Given the description of an element on the screen output the (x, y) to click on. 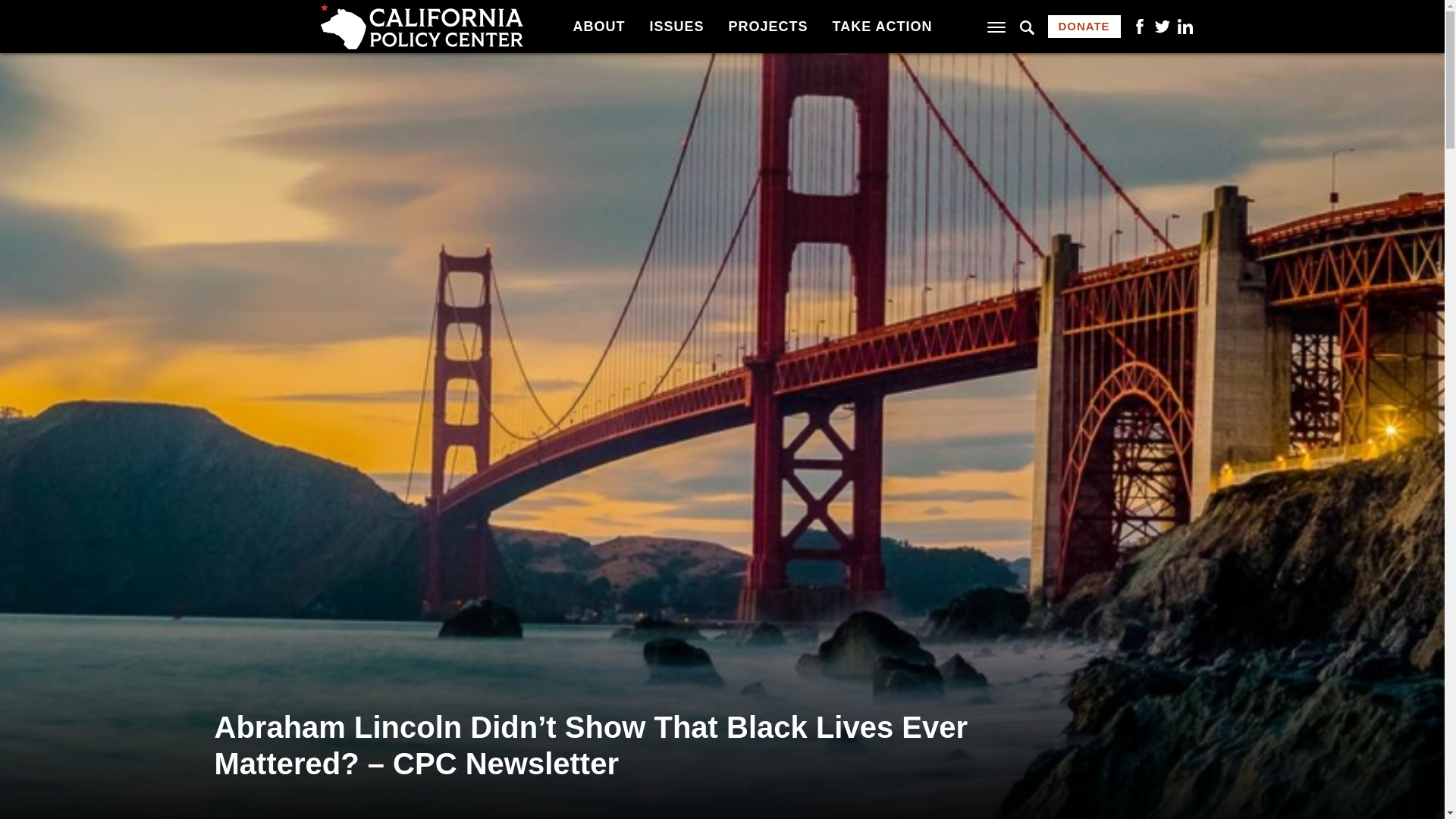
TAKE ACTION (882, 26)
ABOUT (598, 26)
Finance (367, 14)
The California Book of Exoduses (650, 11)
Our Team (373, 14)
DONATE (1084, 26)
PROJECTS (768, 26)
ISSUES (676, 26)
Parent Union (384, 14)
Pensions (606, 14)
Contact Us (612, 14)
Newsletter Signup (871, 14)
Policy Reports (858, 14)
Californians for Energy and Water Abundance (901, 11)
